Given the description of an element on the screen output the (x, y) to click on. 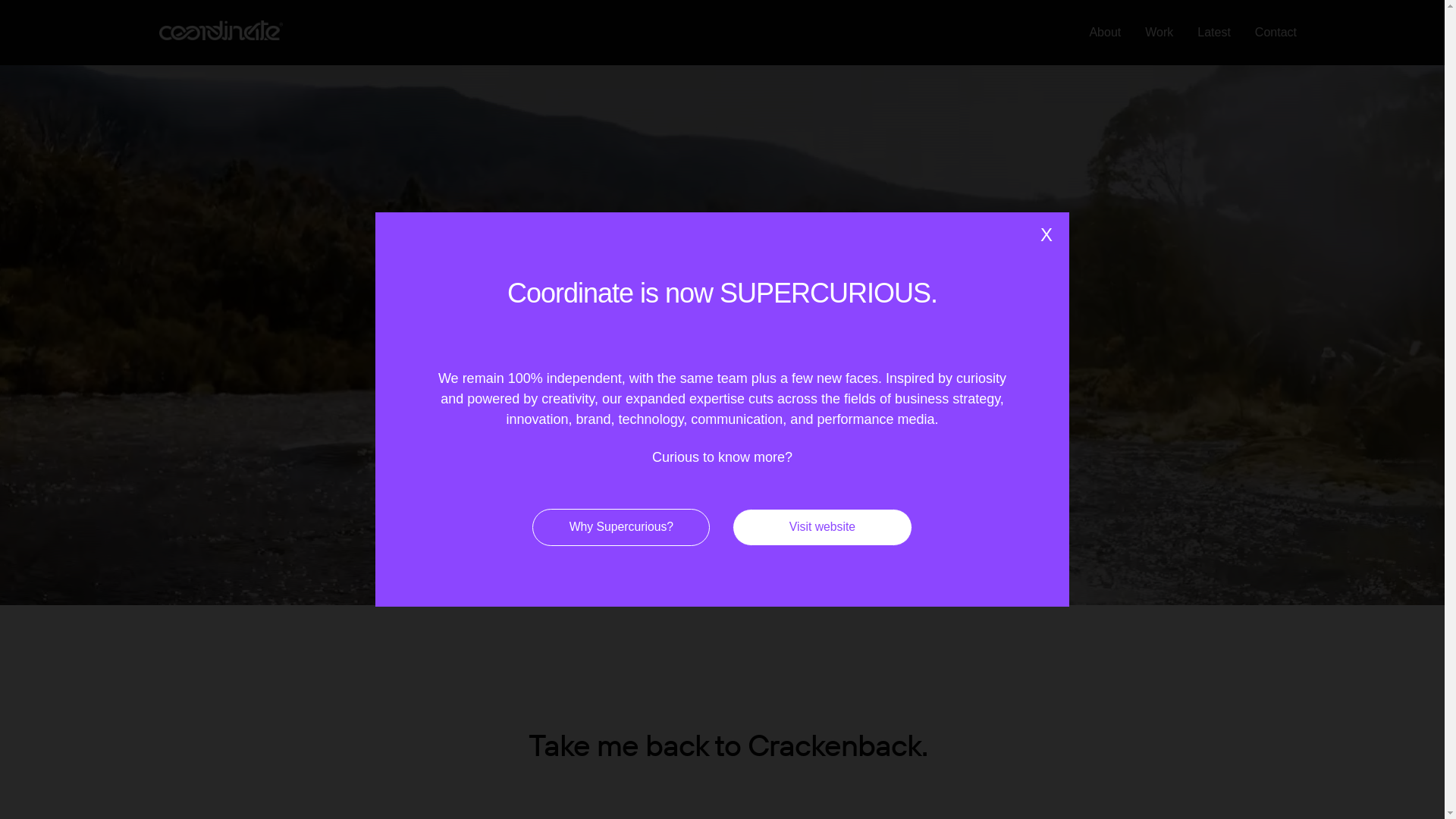
Visit website Element type: text (821, 527)
Coordinate Element type: text (220, 30)
Latest Element type: text (1213, 32)
Work Element type: text (1159, 32)
Why Supercurious? Element type: text (620, 527)
Contact Element type: text (1275, 32)
X Element type: text (1046, 234)
About Element type: text (1104, 32)
